Given the description of an element on the screen output the (x, y) to click on. 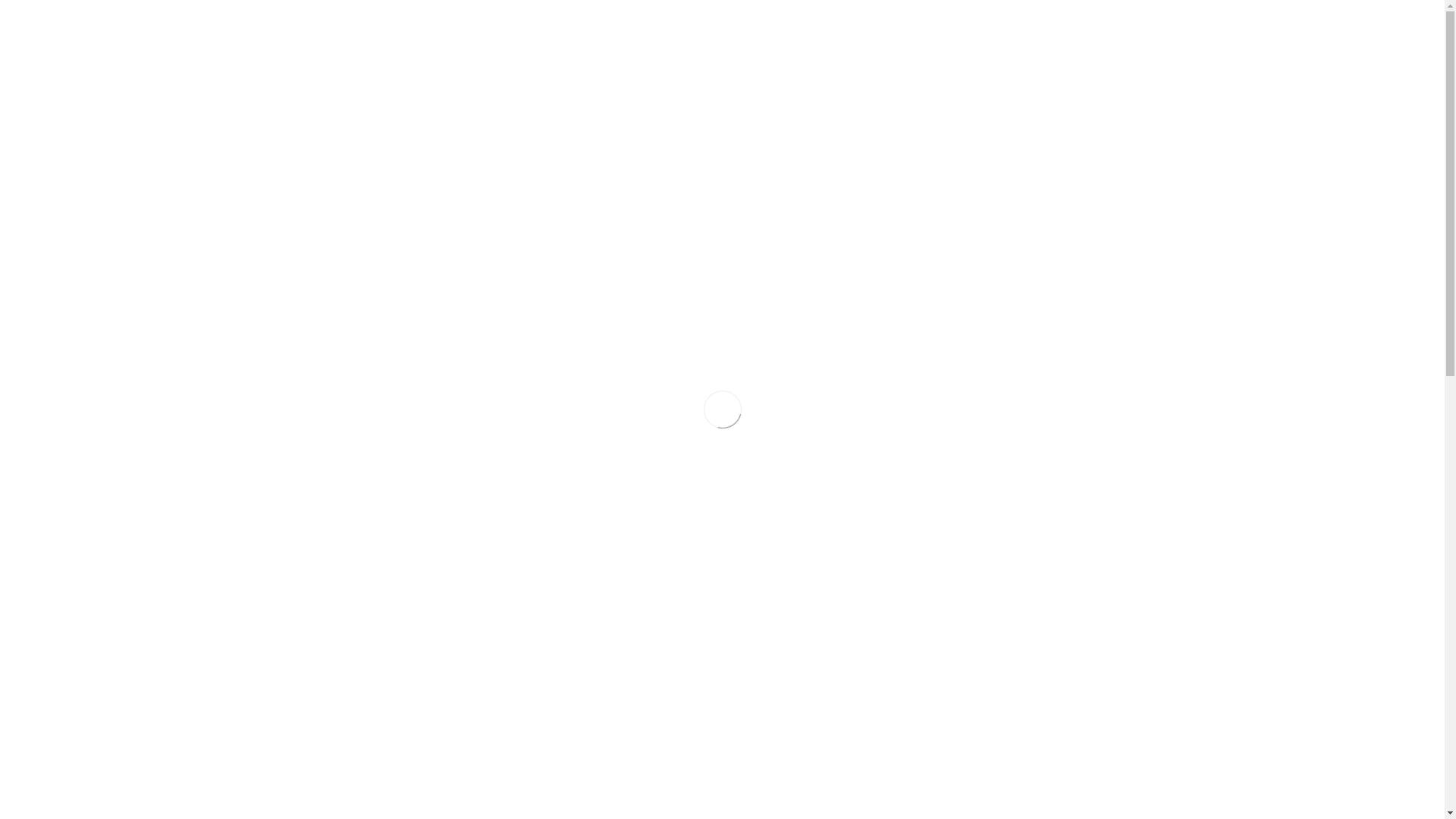
FOYER CALPRINO Element type: text (1049, 379)
QUADRO GENERALE Element type: text (1049, 293)
ADOC SOTTOCENERI Element type: text (1049, 452)
NEWS Element type: text (786, 36)
DONAZIONI Element type: text (920, 36)
OFFERTA Element type: text (723, 36)
CONTATTI Element type: text (1114, 36)
COME ACCEDERE ALLE NOSTRE OFFERTE Element type: text (1049, 317)
FOYER VIGNOLA Element type: text (1049, 428)
ADOMANI Element type: text (1049, 563)
Home Element type: text (1000, 144)
SPAZIO ADO Element type: text (1049, 539)
EVENTI Element type: text (846, 36)
FONDAZIONE Element type: text (634, 36)
ADOC SOPRACENERI Element type: text (1049, 476)
CONSULENTI FAMILIARI Element type: text (1049, 625)
FOYER VERBANELLA Element type: text (1049, 404)
LAVORA CON NOI Element type: text (1017, 36)
HOME Element type: text (558, 36)
ADOC Sopraceneri Element type: text (1113, 144)
Offerta Element type: text (1043, 144)
